Given the description of an element on the screen output the (x, y) to click on. 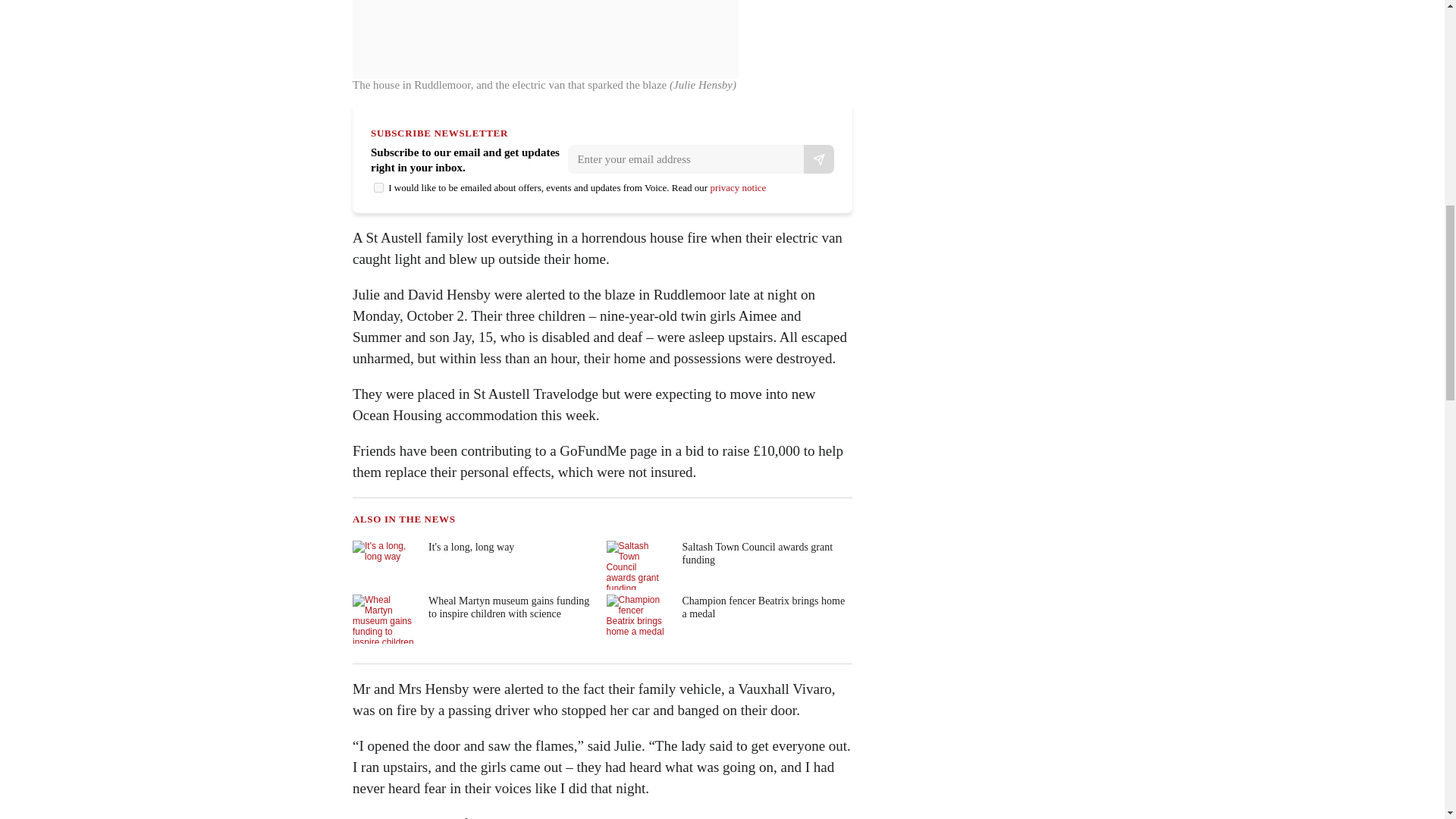
It's a long, long way (473, 564)
Champion fencer Beatrix brings home a medal (727, 618)
privacy notice (737, 187)
Saltash Town Council awards grant funding (727, 564)
on (379, 187)
